Given the description of an element on the screen output the (x, y) to click on. 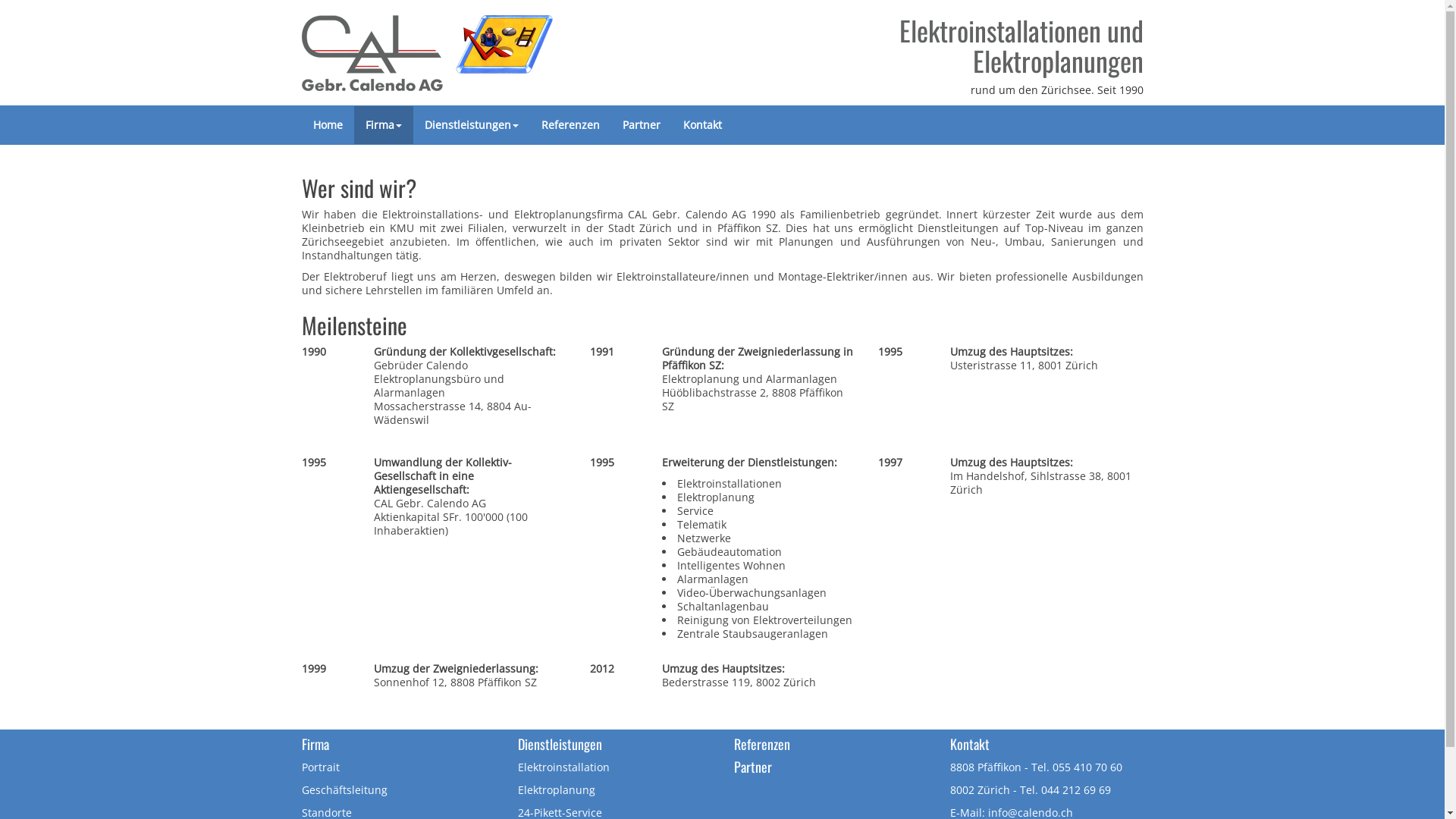
Home Element type: text (327, 125)
Partner Element type: text (752, 766)
Kontakt Element type: text (702, 125)
Elektroinstallation Element type: text (562, 766)
Partner Element type: text (641, 125)
Dienstleistungen Element type: text (470, 125)
Referenzen Element type: text (569, 125)
Portrait Element type: text (320, 766)
Referenzen Element type: text (762, 743)
Kontakt Element type: text (968, 743)
Firma Element type: text (382, 125)
Elektroplanung Element type: text (555, 789)
CAL Gebr. Calendo AG Element type: hover (426, 48)
